Given the description of an element on the screen output the (x, y) to click on. 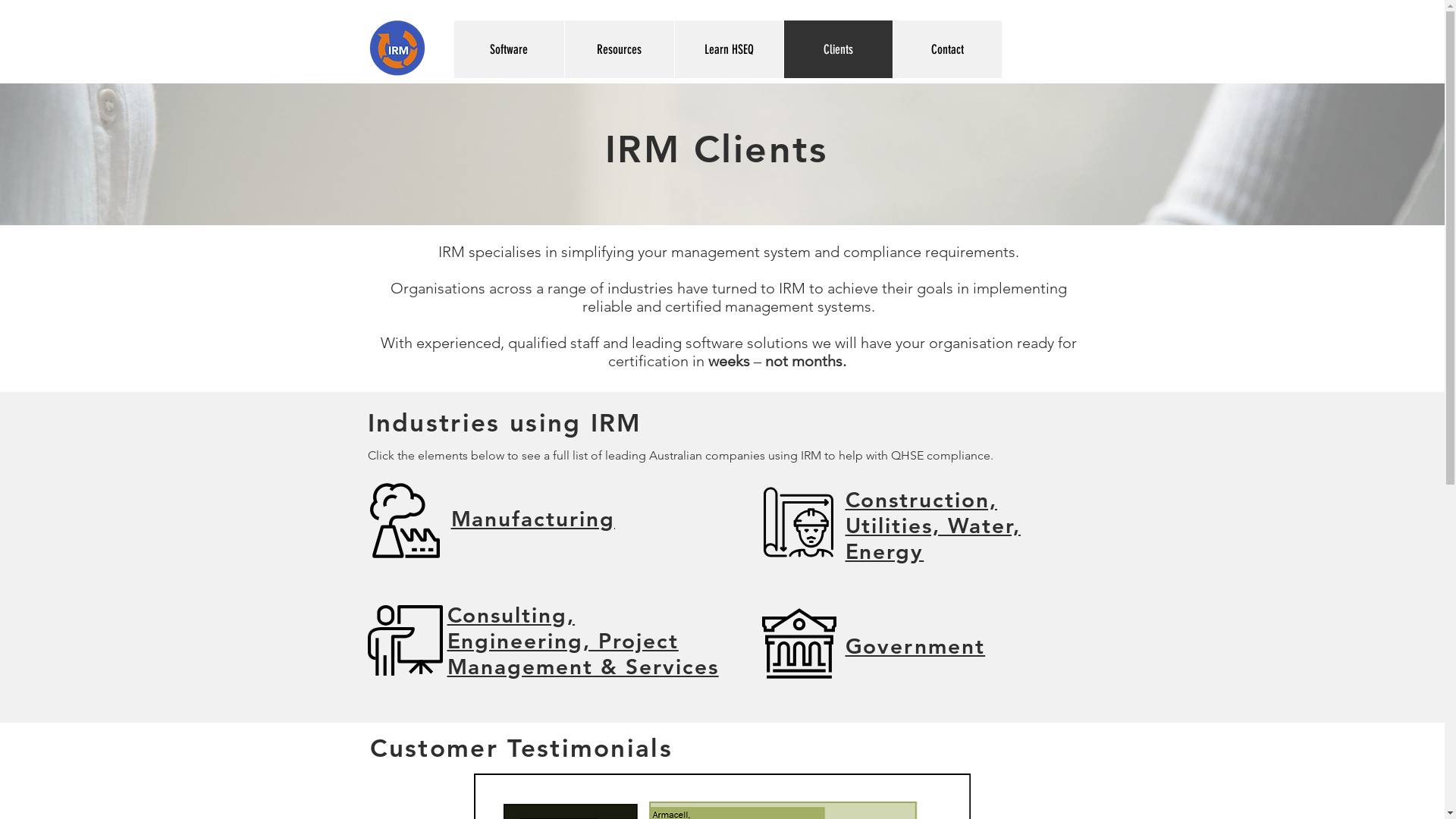
Resources Element type: text (619, 49)
Construction, Element type: text (920, 499)
Contact Element type: text (946, 49)
Software Element type: text (508, 49)
Consulting, Engineering, Project Management & Services Element type: text (582, 640)
Government Element type: text (914, 645)
Manufacturing Element type: text (532, 518)
Utilities, Water, Energy Element type: text (931, 538)
Clients Element type: text (836, 49)
Learn HSEQ Element type: text (727, 49)
